Given the description of an element on the screen output the (x, y) to click on. 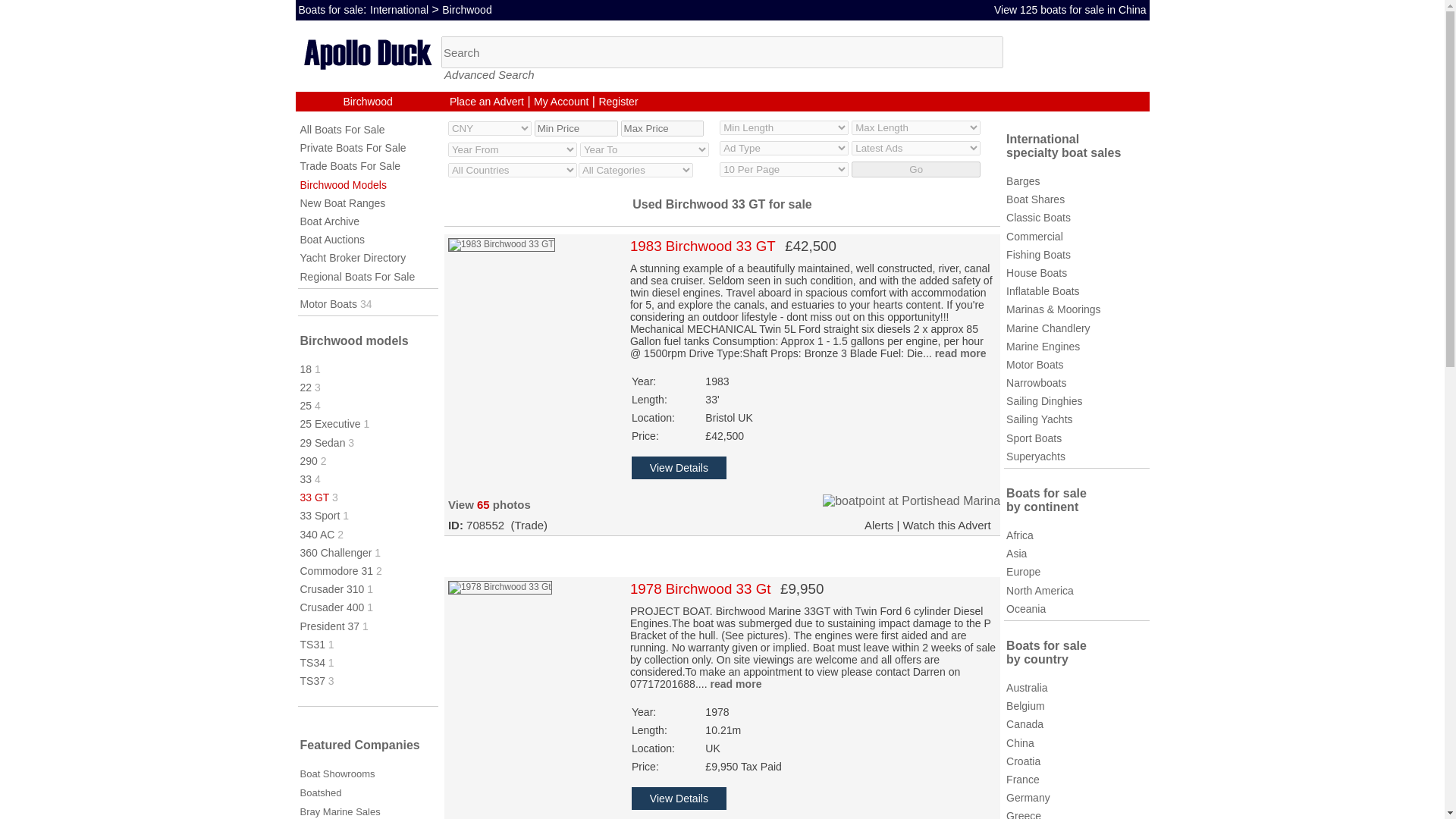
TS34 (311, 662)
Boats for sale (331, 9)
25 (306, 405)
Crusader 310 (332, 589)
290 (308, 460)
Birchwood (368, 101)
International (398, 9)
Bray Marine Sales, UK (339, 811)
33 (306, 479)
Advanced Search (489, 74)
